Given the description of an element on the screen output the (x, y) to click on. 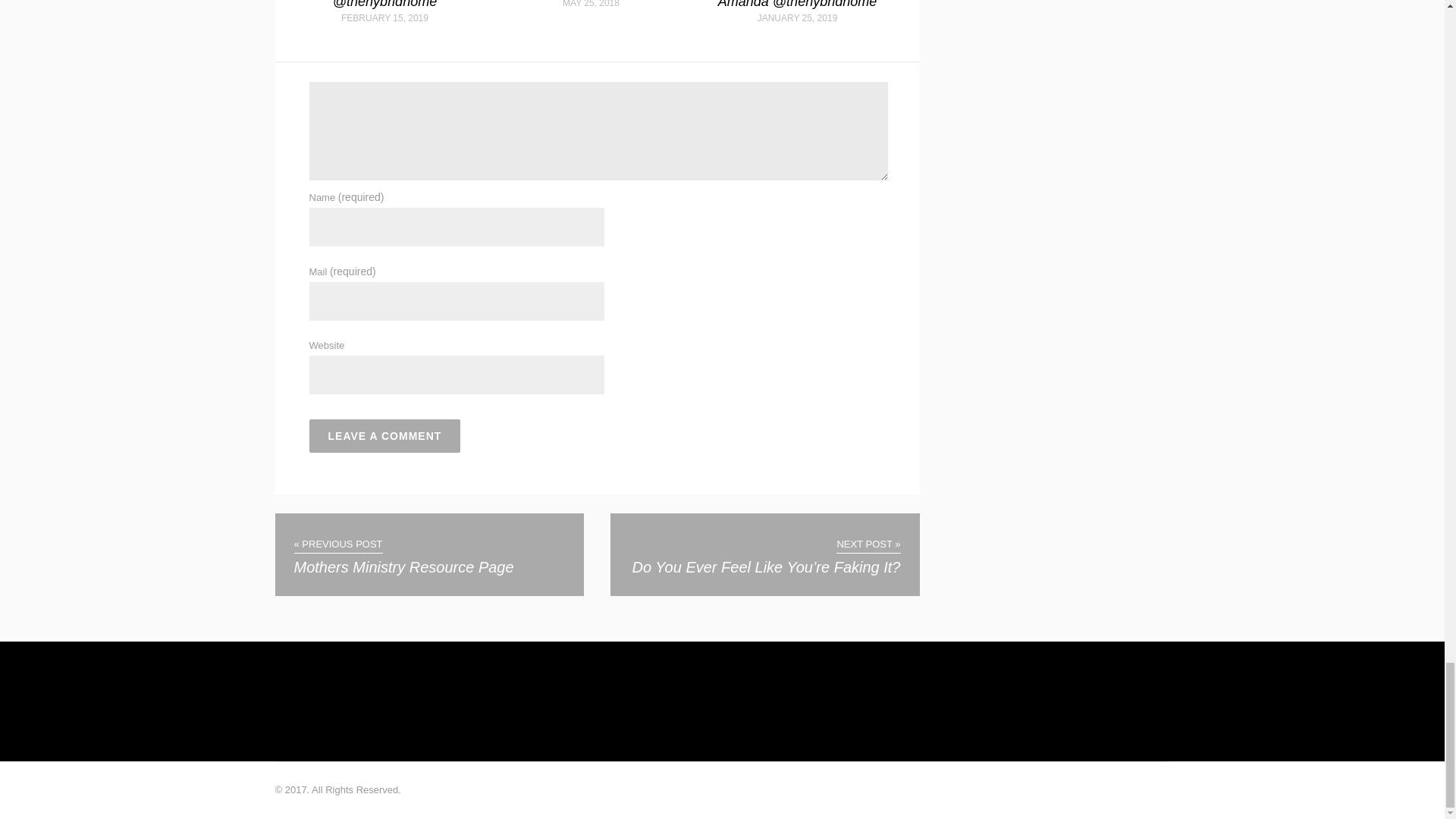
Permanent (384, 4)
Leave a Comment (384, 435)
JANUARY 25, 2019 (797, 18)
FEBRUARY 15, 2019 (385, 18)
Leave a Comment (384, 435)
MAY 25, 2018 (591, 4)
Permanent (796, 4)
